Given the description of an element on the screen output the (x, y) to click on. 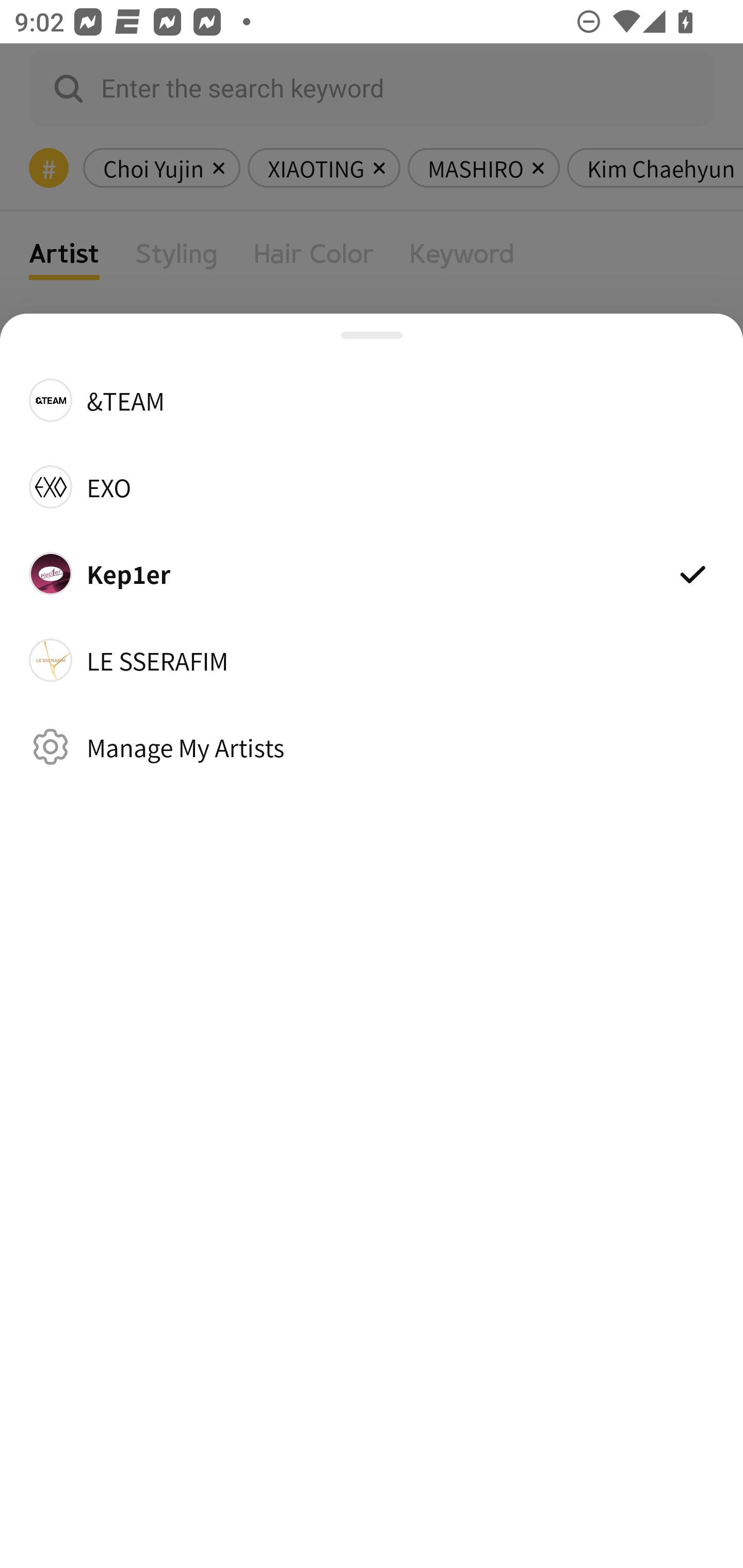
&TEAM (371, 399)
EXO (371, 486)
Kep1er (371, 573)
LE SSERAFIM (371, 660)
Manage My Artists (371, 746)
